Given the description of an element on the screen output the (x, y) to click on. 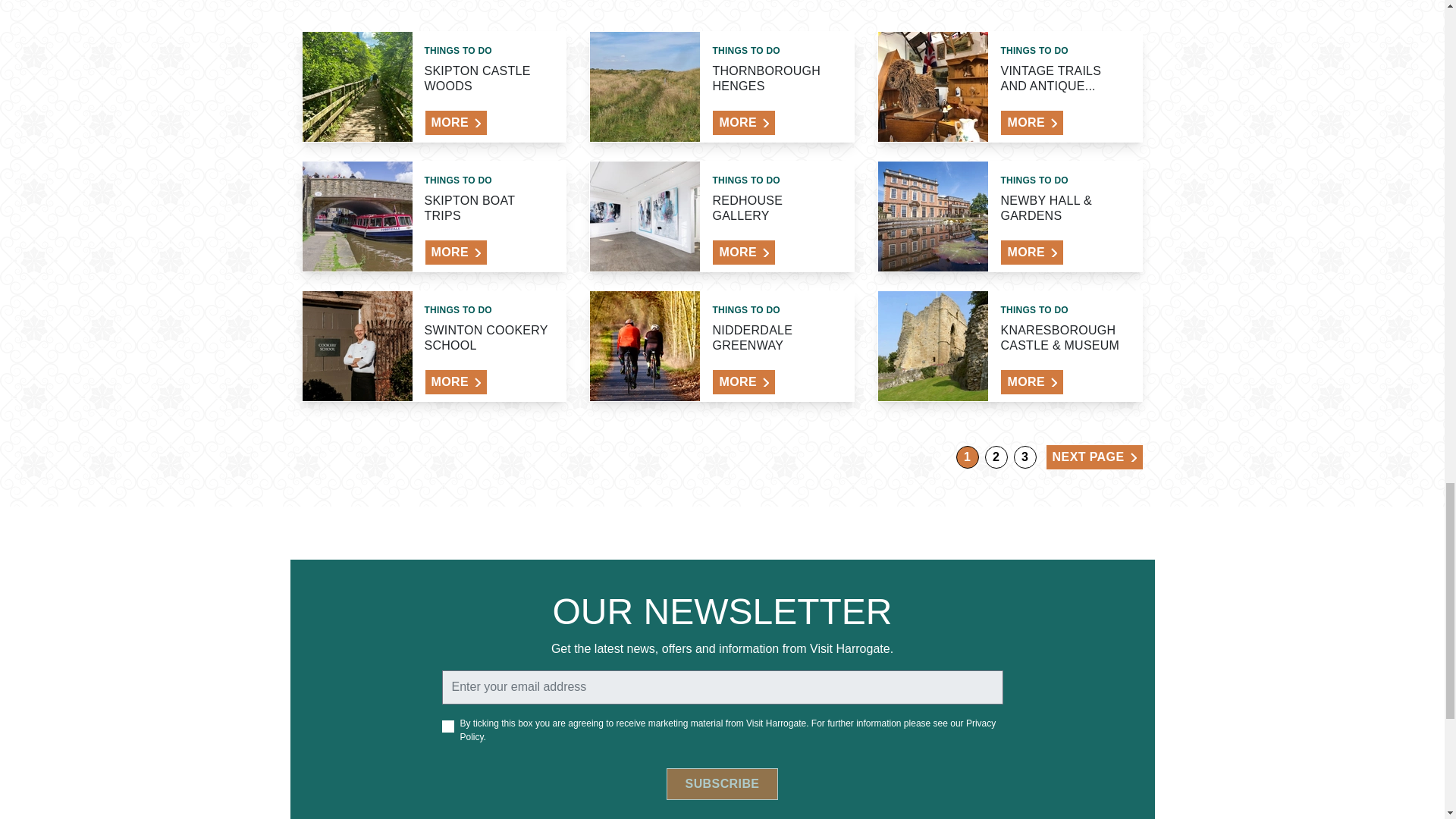
yes (446, 726)
